Given the description of an element on the screen output the (x, y) to click on. 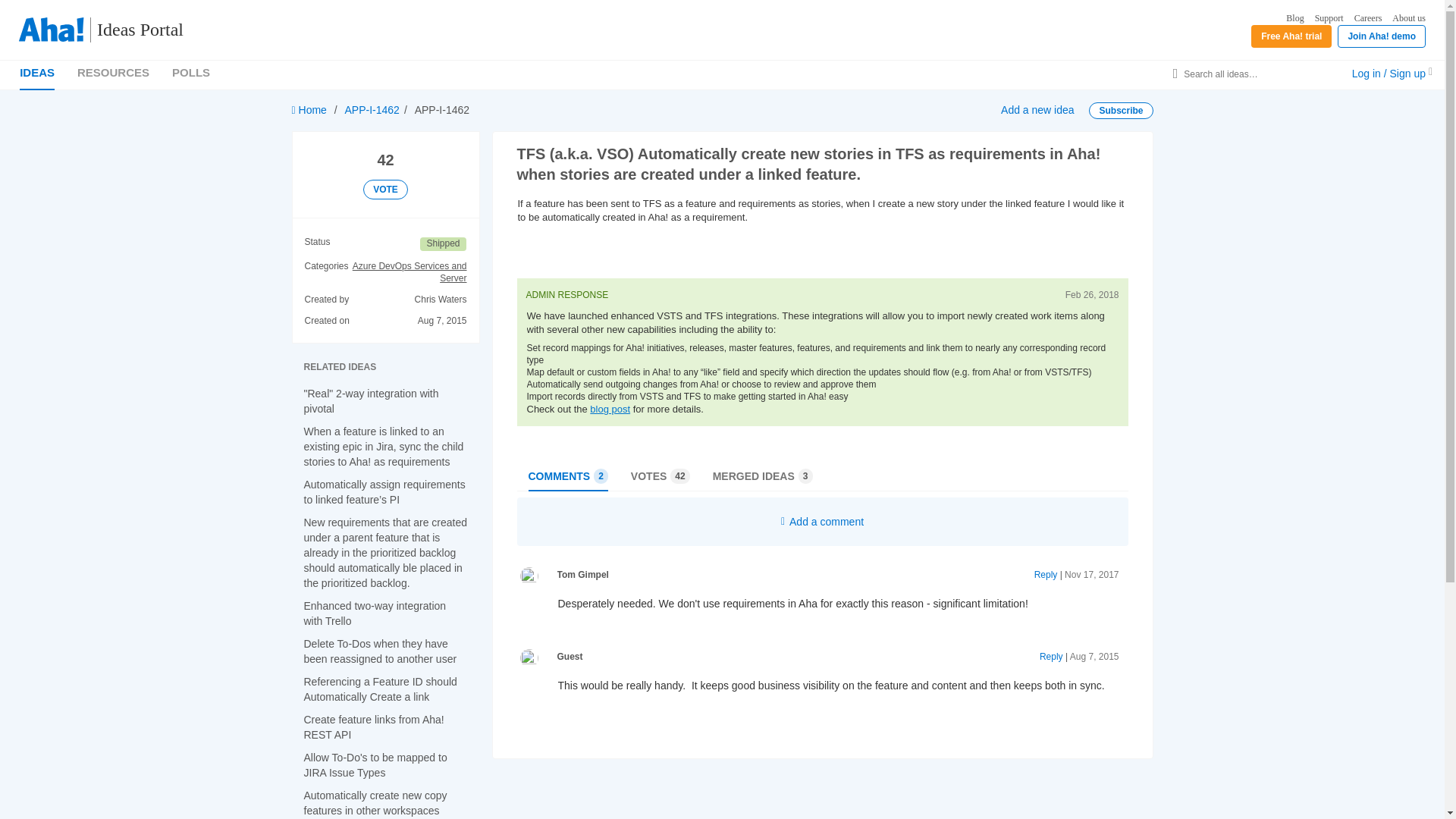
Allow To-Do's to be mapped to JIRA Issue Types (374, 764)
Ideas Portal (133, 30)
About us (1408, 18)
Shipped (442, 243)
Home (310, 110)
Free Aha! trial (1291, 36)
APP-I-1462 (371, 110)
Blog (1294, 18)
